Given the description of an element on the screen output the (x, y) to click on. 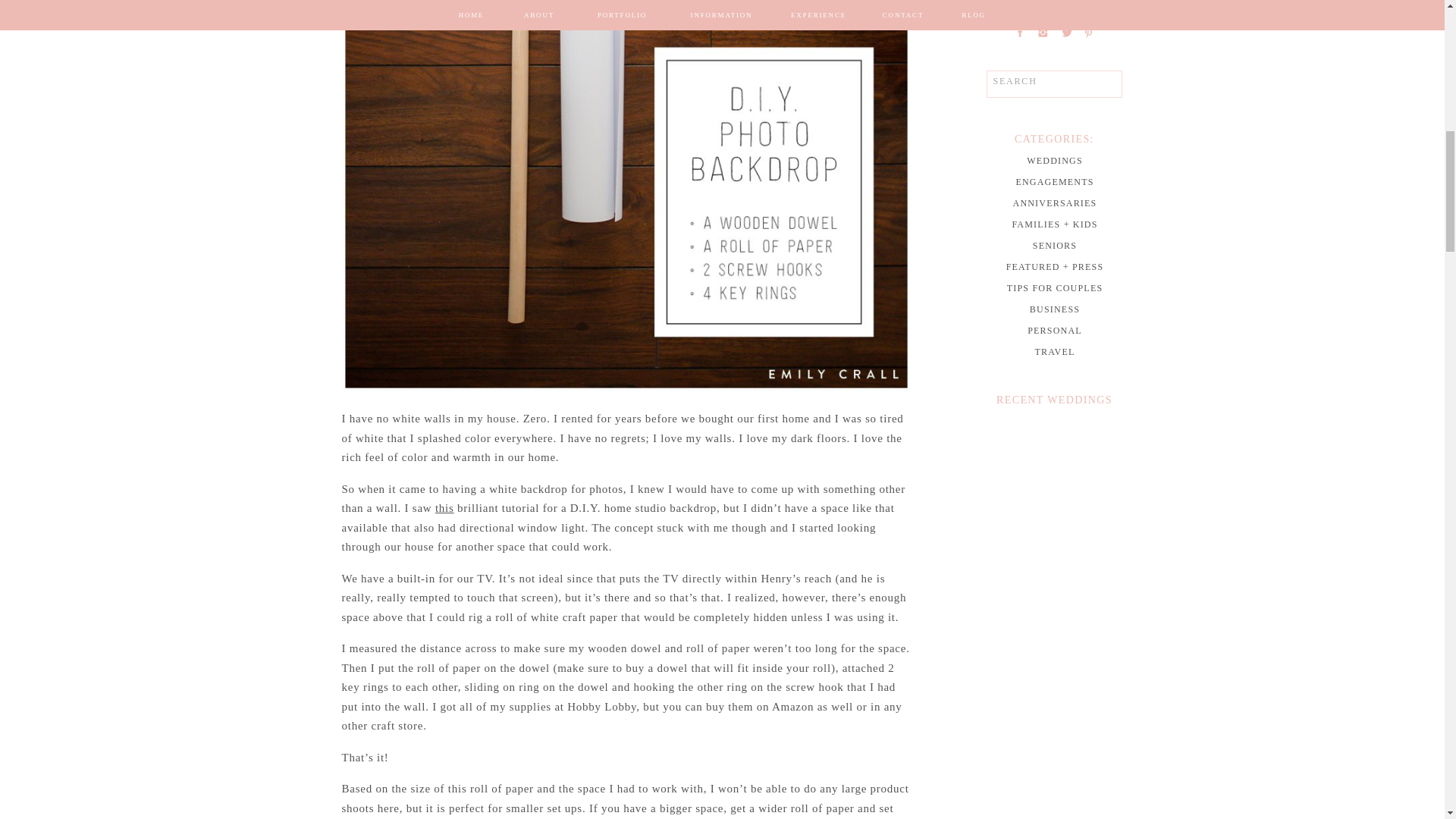
TRAVEL (1055, 351)
SENIORS (1055, 245)
BUSINESS (1055, 309)
PERSONAL (1055, 330)
TIPS FOR COUPLES (1055, 287)
